Given the description of an element on the screen output the (x, y) to click on. 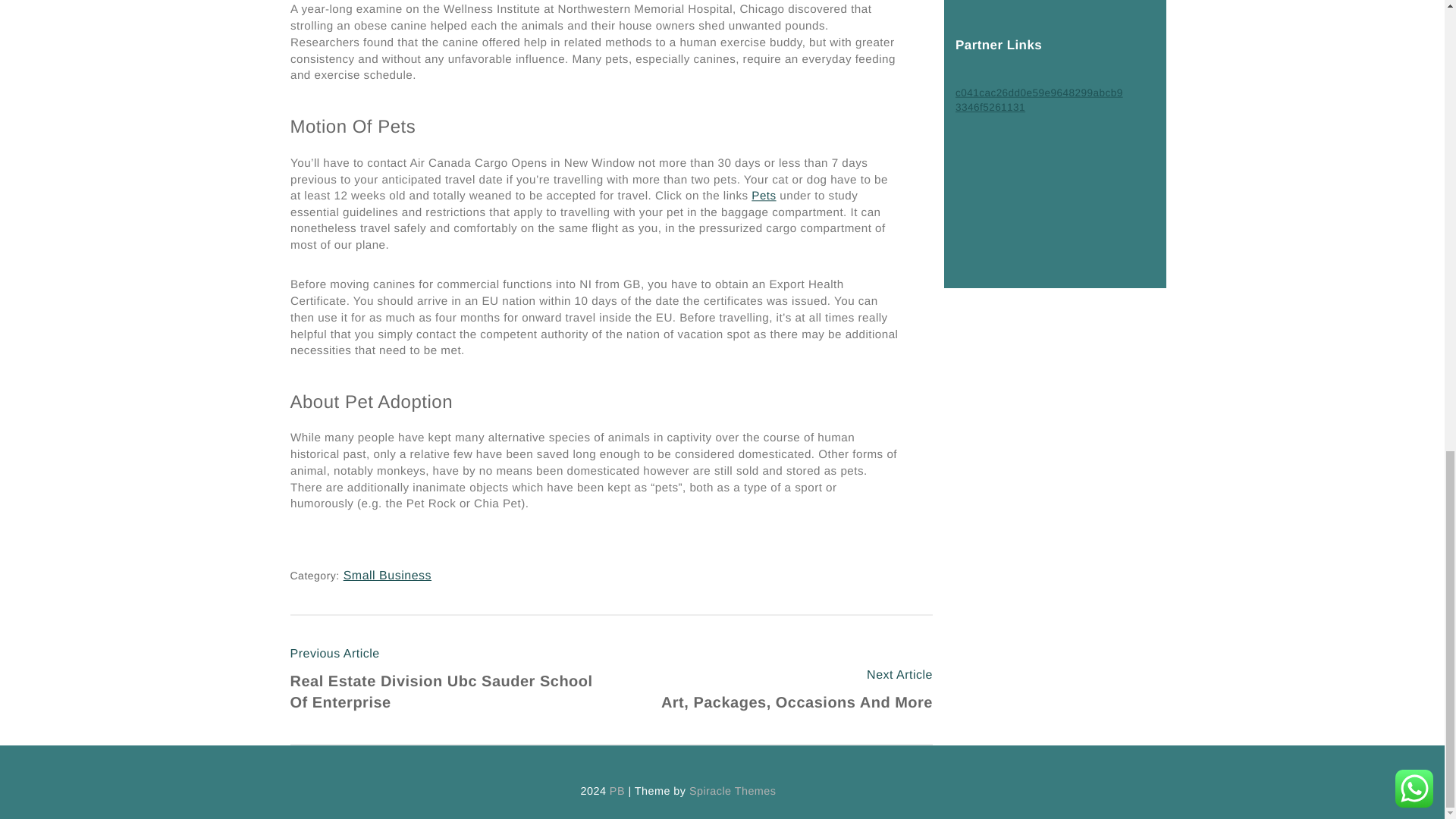
Small Business (772, 691)
Pets (386, 575)
